Given the description of an element on the screen output the (x, y) to click on. 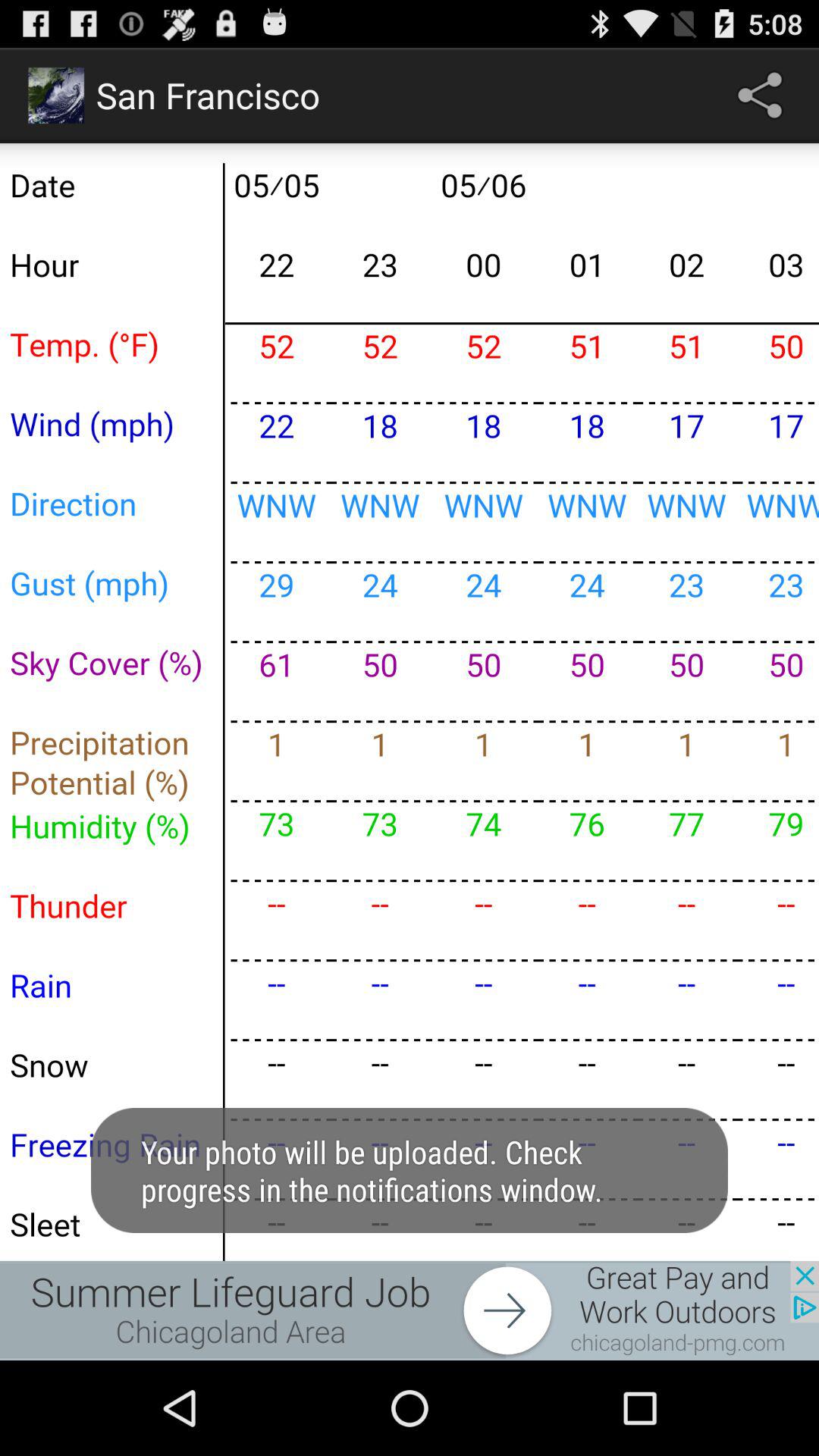
date and time app (409, 701)
